Given the description of an element on the screen output the (x, y) to click on. 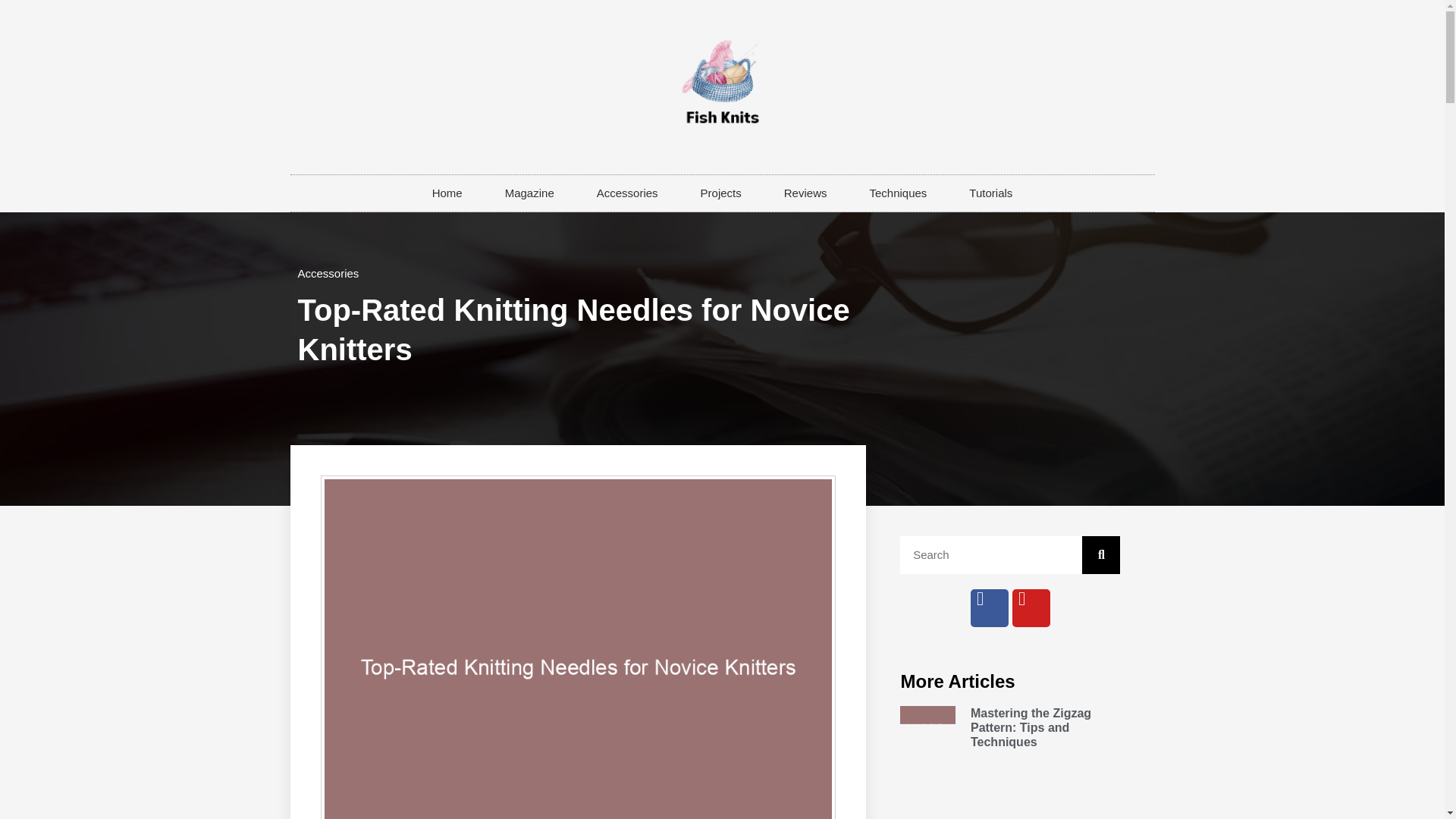
Accessories (627, 193)
Reviews (805, 193)
Accessories (327, 273)
Tutorials (990, 193)
Projects (720, 193)
Mastering the Zigzag Pattern: Tips and Techniques (1030, 727)
Magazine (529, 193)
Home (446, 193)
Techniques (897, 193)
